Given the description of an element on the screen output the (x, y) to click on. 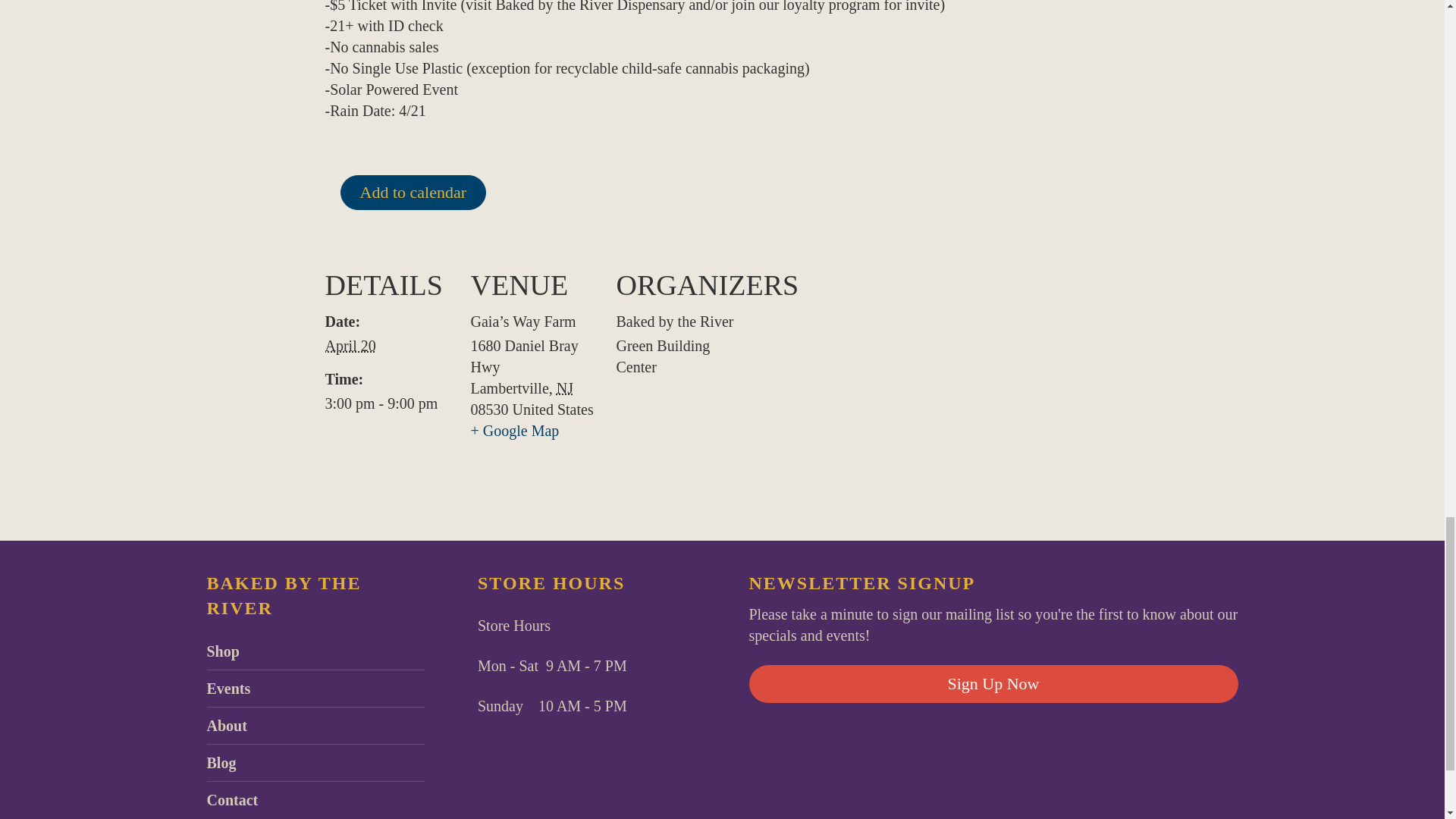
Blog (220, 762)
2024-04-20 (387, 403)
Add to calendar (412, 192)
Contact (231, 799)
Shop (222, 651)
Click to view a Google Map (514, 430)
Events (228, 688)
New Jersey (564, 388)
About (226, 725)
2024-04-20 (349, 345)
